Given the description of an element on the screen output the (x, y) to click on. 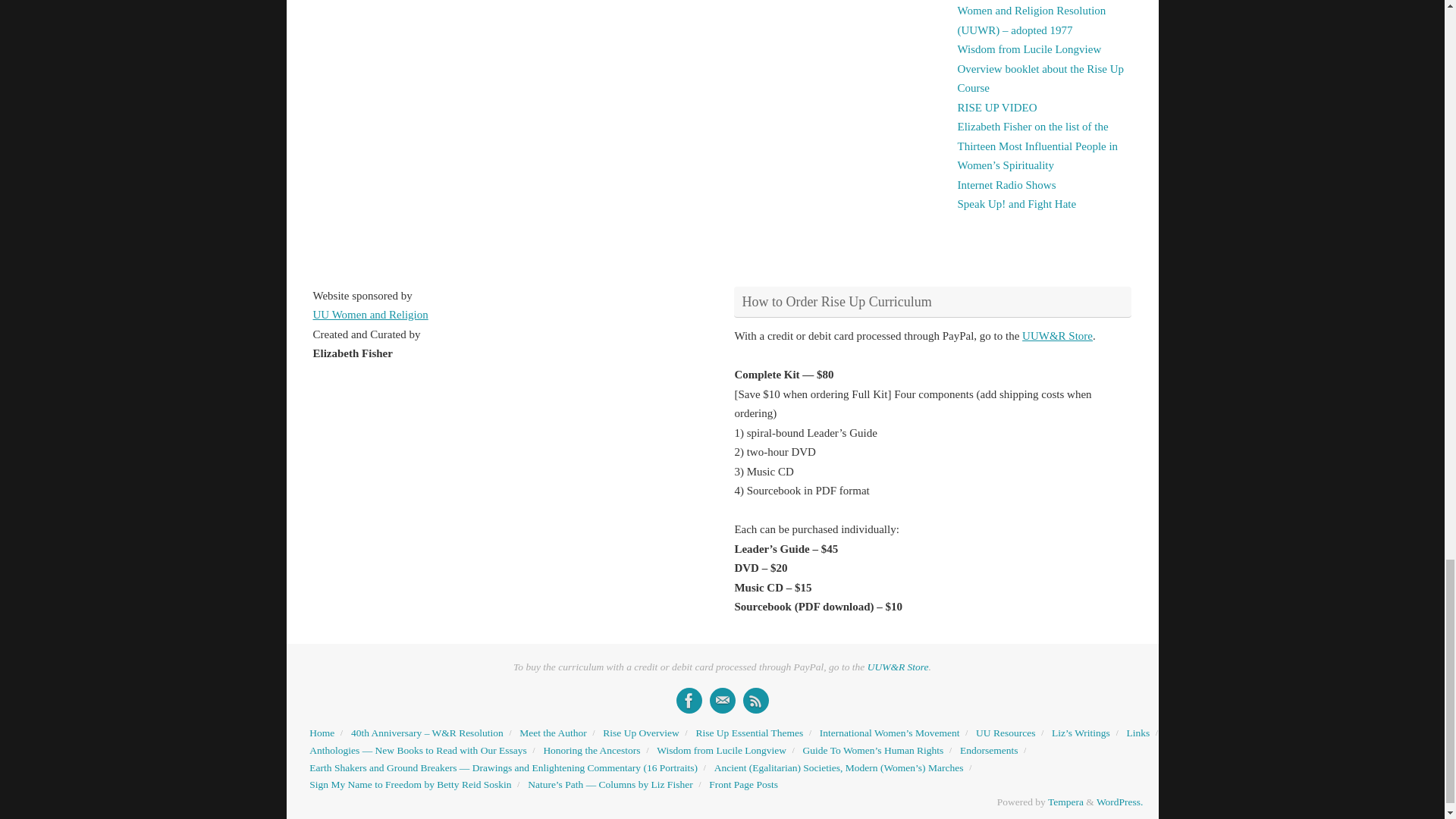
Natures Path Columns (755, 700)
Facebook (689, 700)
Semantic Personal Publishing Platform (1119, 801)
Email us (722, 700)
Tempera Theme by Cryout Creations (1065, 801)
